Given the description of an element on the screen output the (x, y) to click on. 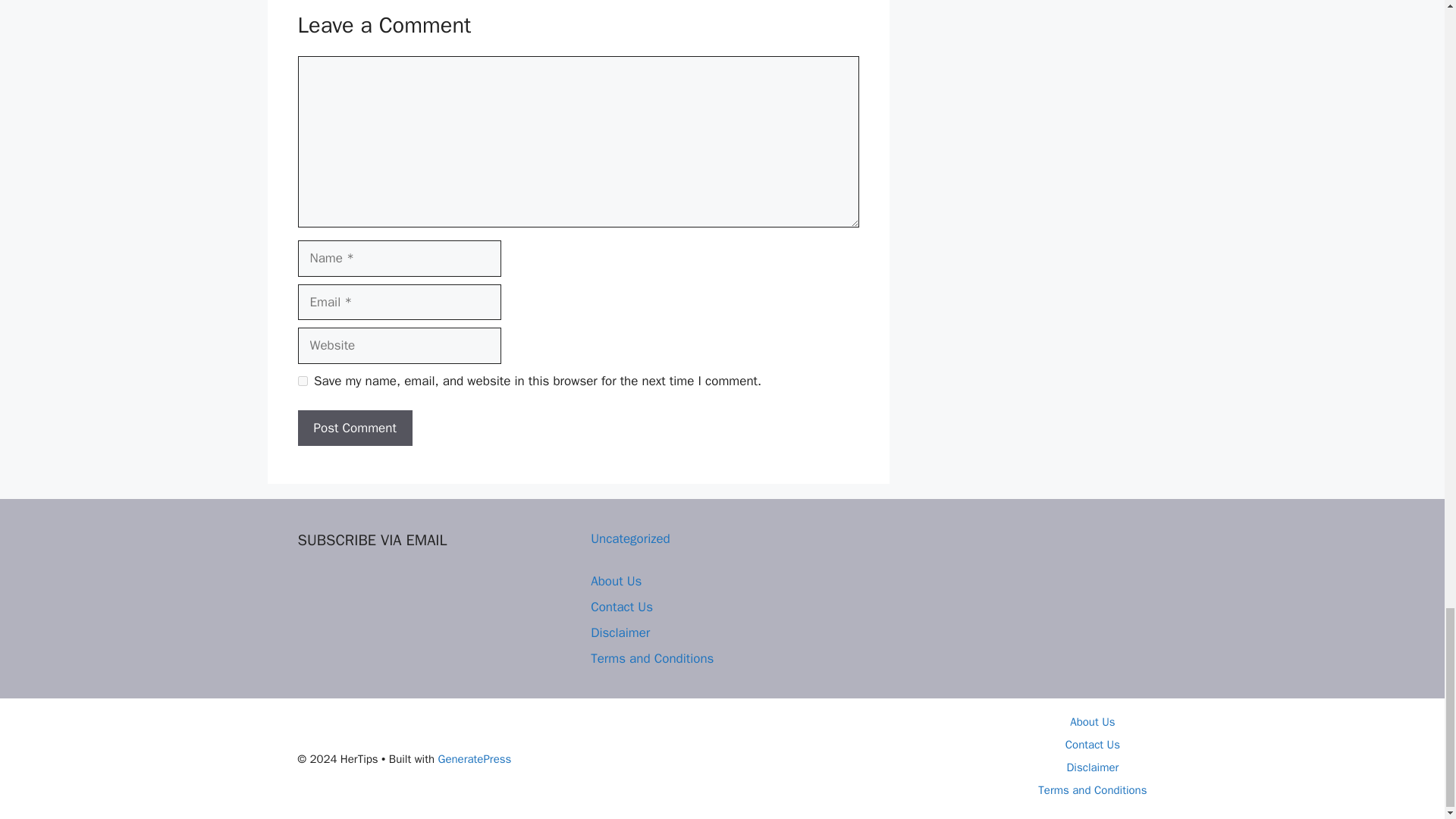
Disclaimer (1091, 766)
Disclaimer (620, 632)
Post Comment (354, 428)
Terms and Conditions (652, 658)
Post Comment (354, 428)
About Us (616, 580)
Uncategorized (630, 538)
Contact Us (621, 606)
Terms and Conditions (1092, 789)
GeneratePress (475, 758)
About Us (1092, 721)
Contact Us (1092, 744)
yes (302, 380)
